Given the description of an element on the screen output the (x, y) to click on. 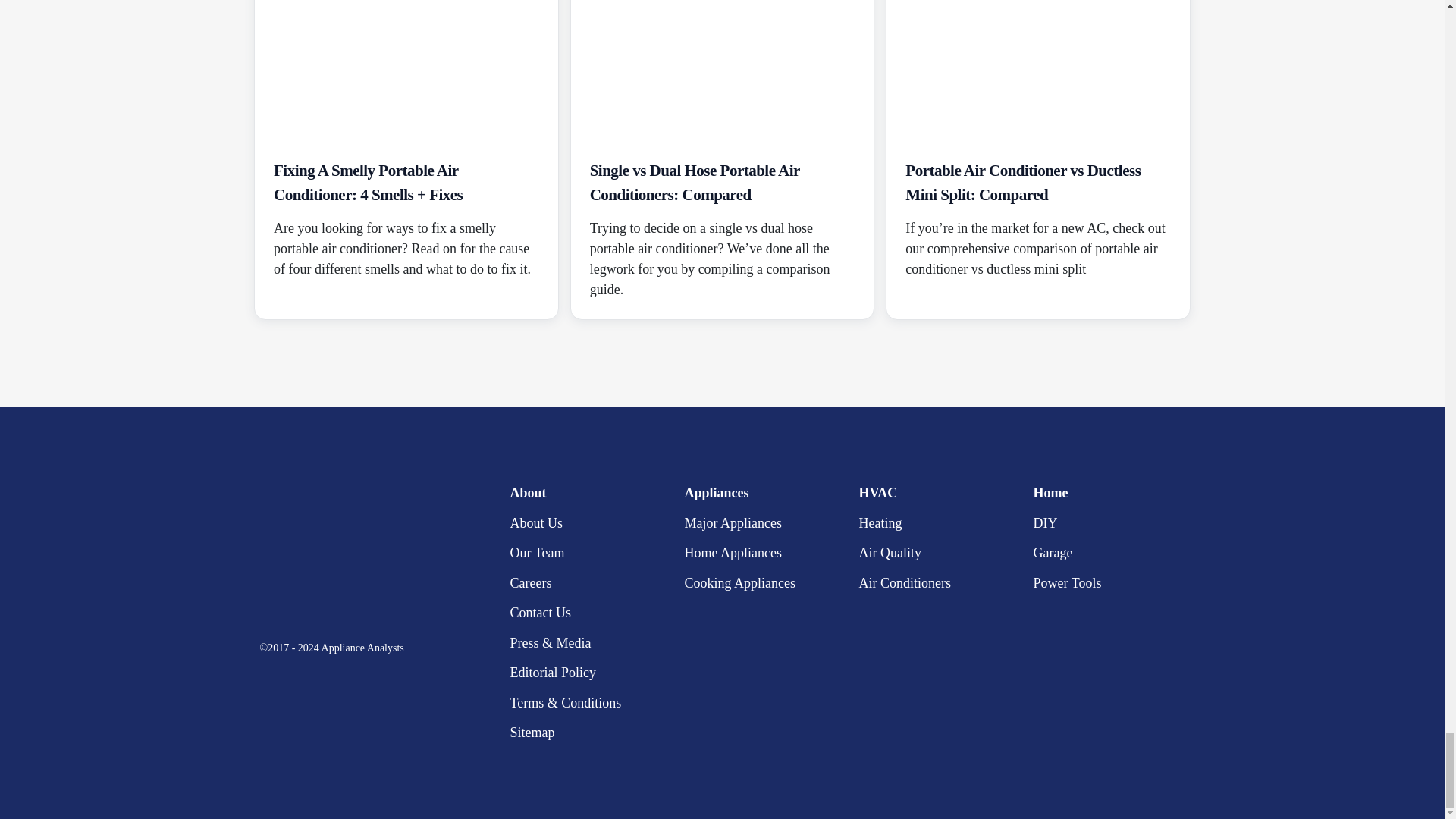
Appliance Analysts (353, 552)
